Given the description of an element on the screen output the (x, y) to click on. 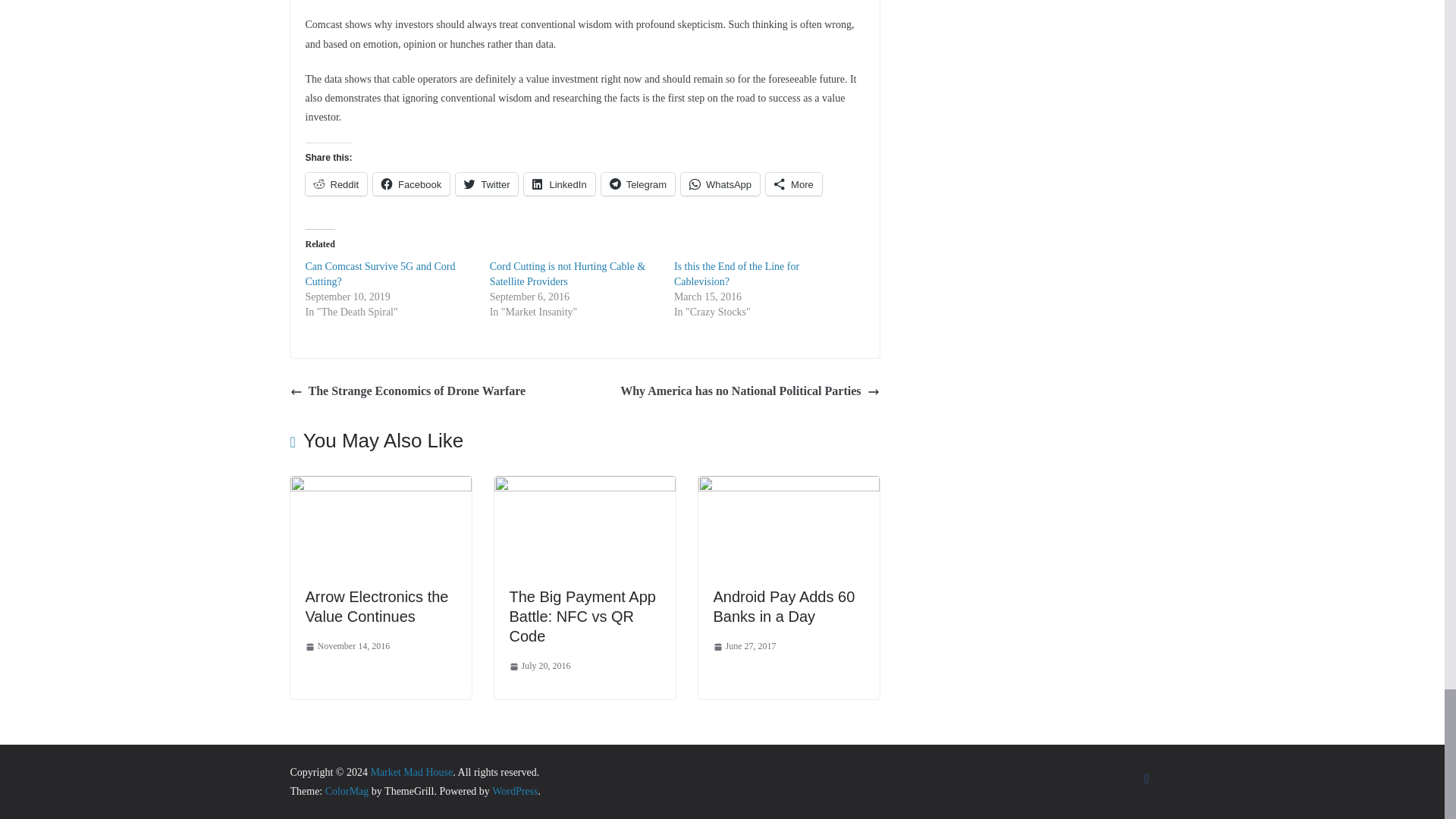
Can Comcast Survive 5G and Cord Cutting? (379, 274)
Click to share on Facebook (410, 183)
Click to share on Reddit (335, 183)
Click to share on LinkedIn (559, 183)
Click to share on Twitter (486, 183)
More (793, 183)
Arrow Electronics the Value Continues (379, 486)
Twitter (486, 183)
Click to share on Telegram (638, 183)
Facebook (410, 183)
Click to share on WhatsApp (720, 183)
Reddit (335, 183)
Is this the End of the Line for Cablevision? (736, 274)
WhatsApp (720, 183)
LinkedIn (559, 183)
